Given the description of an element on the screen output the (x, y) to click on. 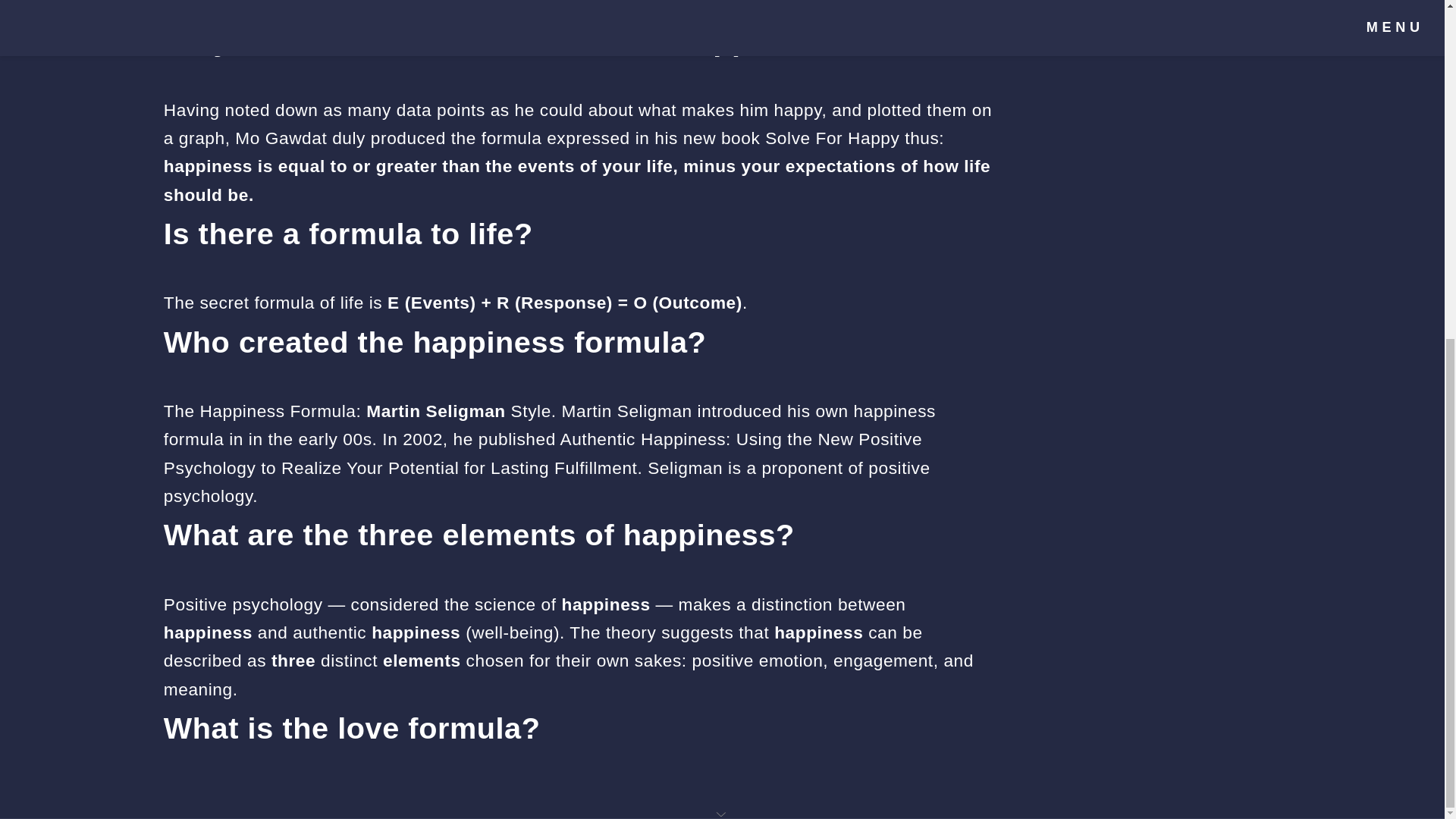
Ad.Plus Advertising (722, 240)
